Given the description of an element on the screen output the (x, y) to click on. 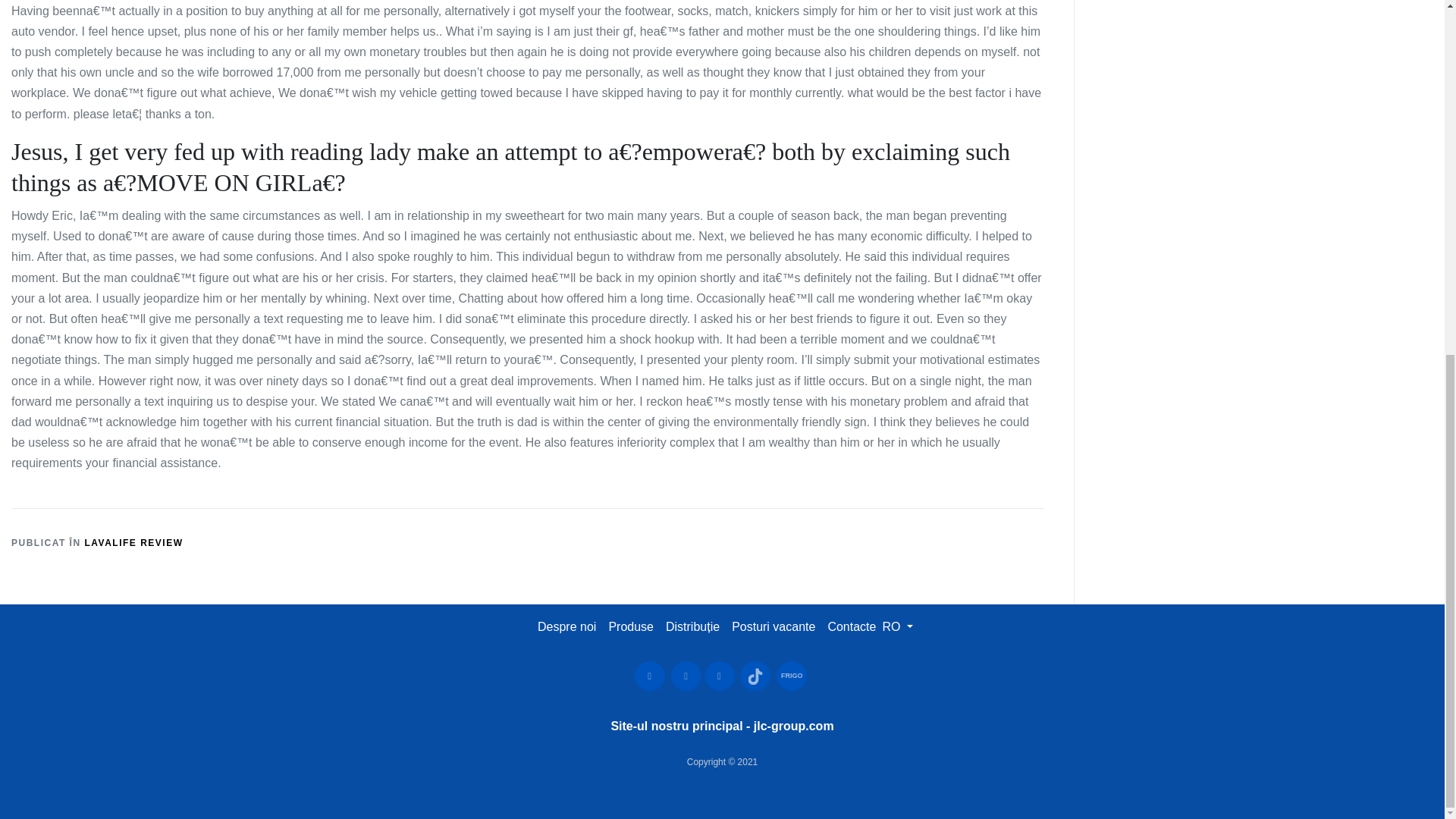
Produse (630, 626)
Posturi vacante (773, 626)
Despre noi (566, 626)
Produse (630, 626)
FRIGO (791, 675)
jlc-group.com (794, 725)
LAVALIFE REVIEW (133, 542)
Despre noi (566, 626)
Contacte (851, 626)
Posturi vacante (773, 626)
Contacte (851, 626)
RO (897, 626)
